Given the description of an element on the screen output the (x, y) to click on. 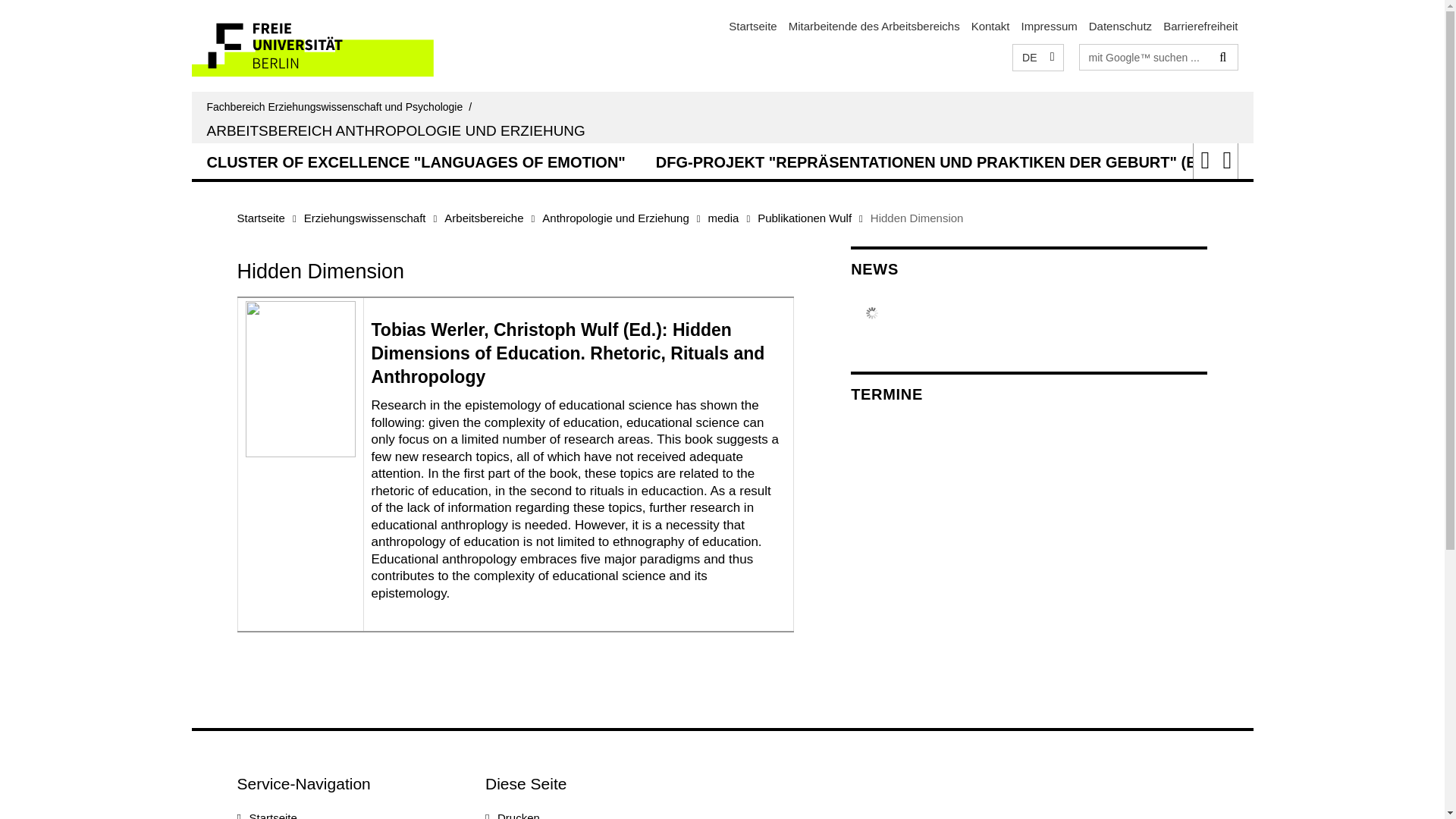
Zur Startseite von:  (341, 106)
Erziehungswissenschaft (365, 216)
Publikationen Wulf (804, 216)
Datenschutz (1120, 25)
loading... (959, 160)
CLUSTER OF EXCELLENCE "LANGUAGES OF EMOTION" (415, 160)
Startseite (752, 25)
Suchbegriff bitte hier eingeben (1144, 56)
Startseite (259, 216)
